Given the description of an element on the screen output the (x, y) to click on. 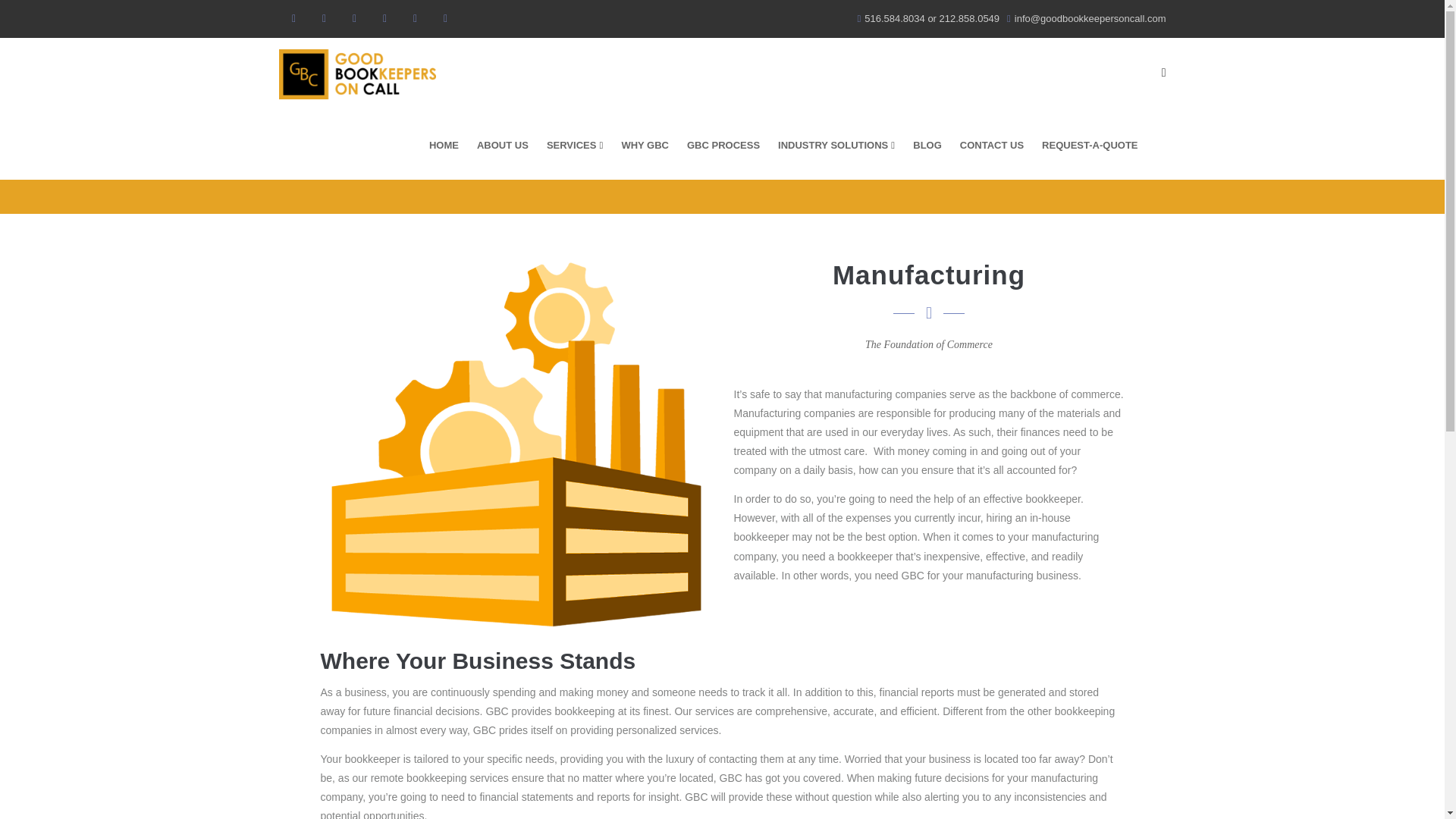
WHY GBC (644, 144)
ABOUT US (502, 144)
SERVICES (574, 144)
